Given the description of an element on the screen output the (x, y) to click on. 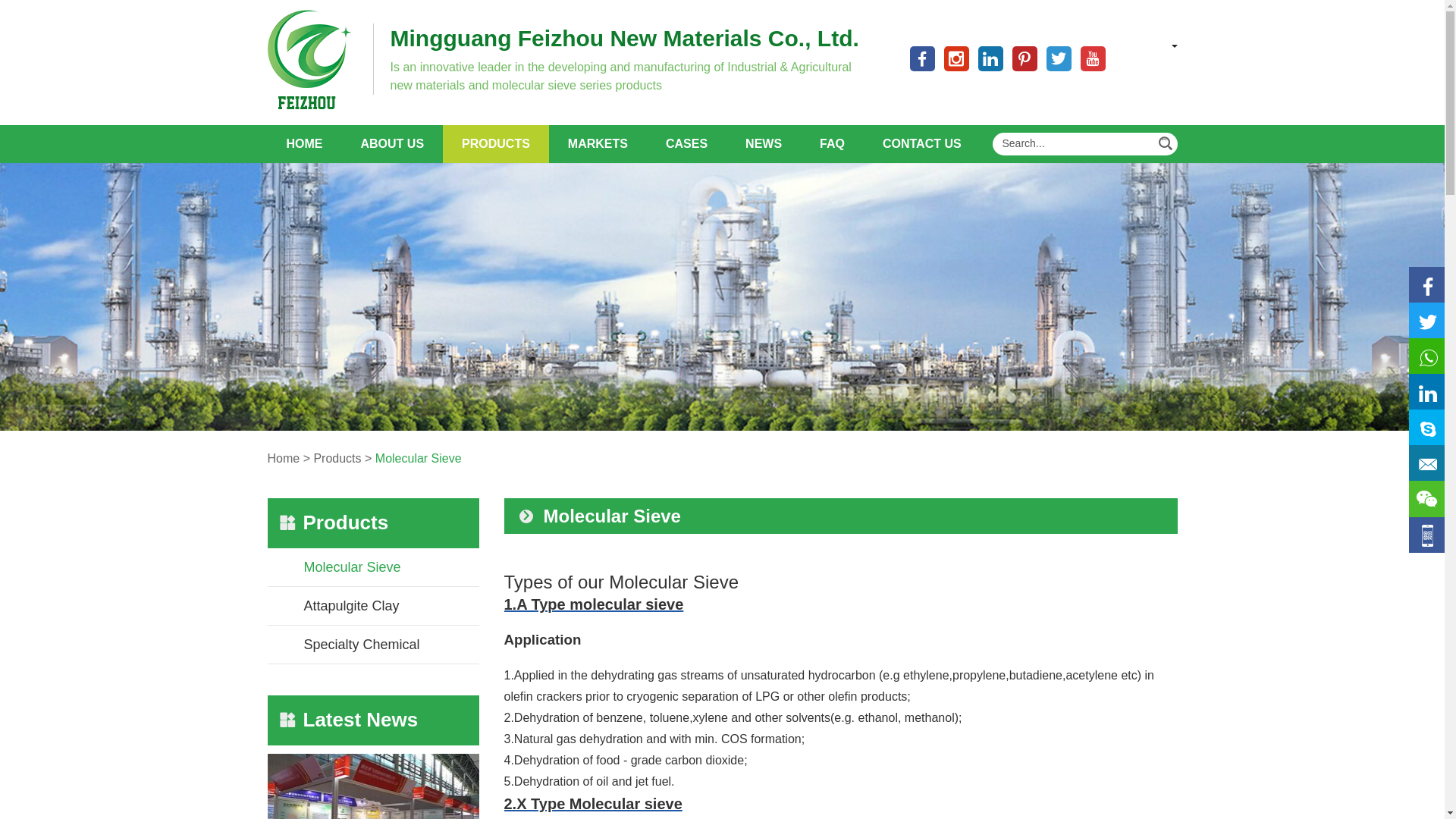
Mingguang Feizhou New Materials Co., Ltd. (625, 38)
About Us (391, 143)
HOME (303, 143)
Markets (597, 143)
Cases (686, 143)
ABOUT US (391, 143)
Products (495, 143)
Mingguang Feizhou New Materials Co., Ltd. (625, 38)
Home (303, 143)
